Given the description of an element on the screen output the (x, y) to click on. 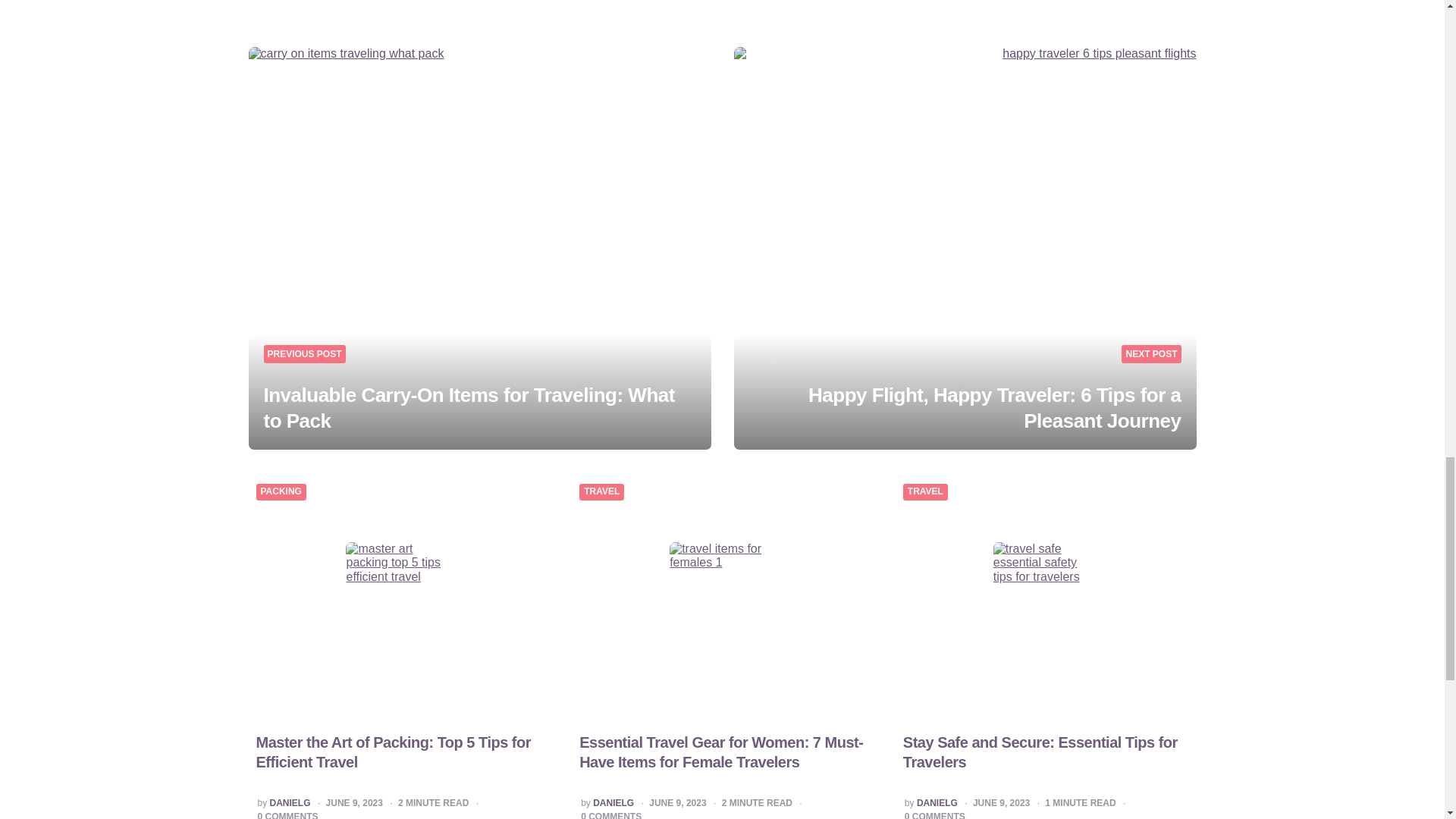
Happy Flight, Happy Traveler: 6 Tips for a Pleasant Journey (994, 408)
Invaluable Carry-On Items for Traveling: What to Pack (469, 408)
PACKING (280, 491)
Stay Safe and Secure: Essential Tips for Travelers (1039, 751)
TRAVEL (601, 491)
TRAVEL (925, 491)
DANIELG (290, 803)
Master the Art of Packing: Top 5 Tips for Efficient Travel (393, 751)
DANIELG (612, 803)
